Given the description of an element on the screen output the (x, y) to click on. 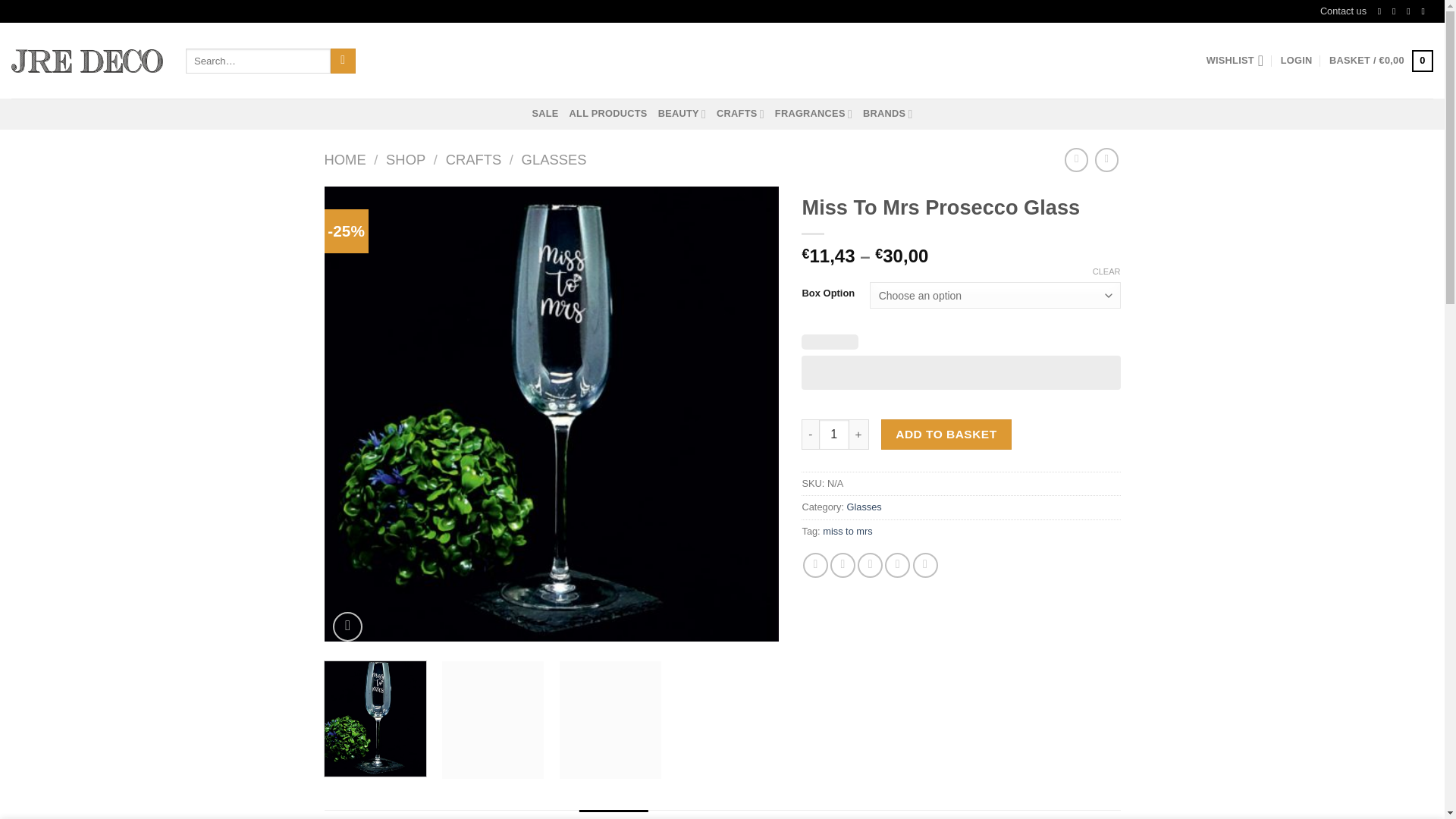
Share on Facebook (815, 565)
BEAUTY (682, 113)
CRAFTS (740, 113)
Basket (1380, 61)
Email to a Friend (869, 565)
Login (1297, 60)
Search (342, 61)
Zoom (347, 626)
Contact us (1343, 11)
ALL PRODUCTS (608, 113)
Share on Twitter (842, 565)
Wishlist (1235, 60)
WISHLIST (1235, 60)
LOGIN (1297, 60)
1 (833, 434)
